Given the description of an element on the screen output the (x, y) to click on. 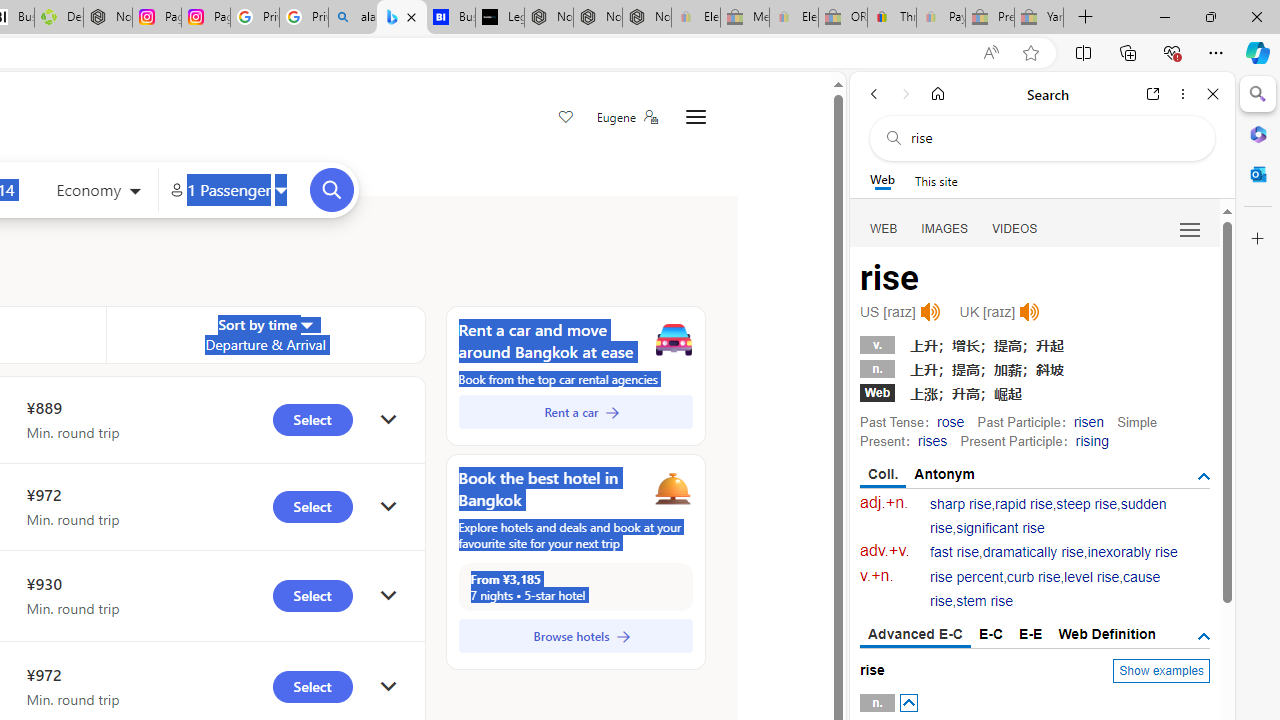
dramatically rise (1032, 552)
Search Filter, IMAGES (944, 228)
Browse hotels (575, 636)
cause rise (1045, 589)
alabama high school quarterback dies - Search (353, 17)
click to get details (388, 687)
Threats and offensive language policy | eBay (891, 17)
Advanced E-C (915, 635)
E-C (991, 633)
